Given the description of an element on the screen output the (x, y) to click on. 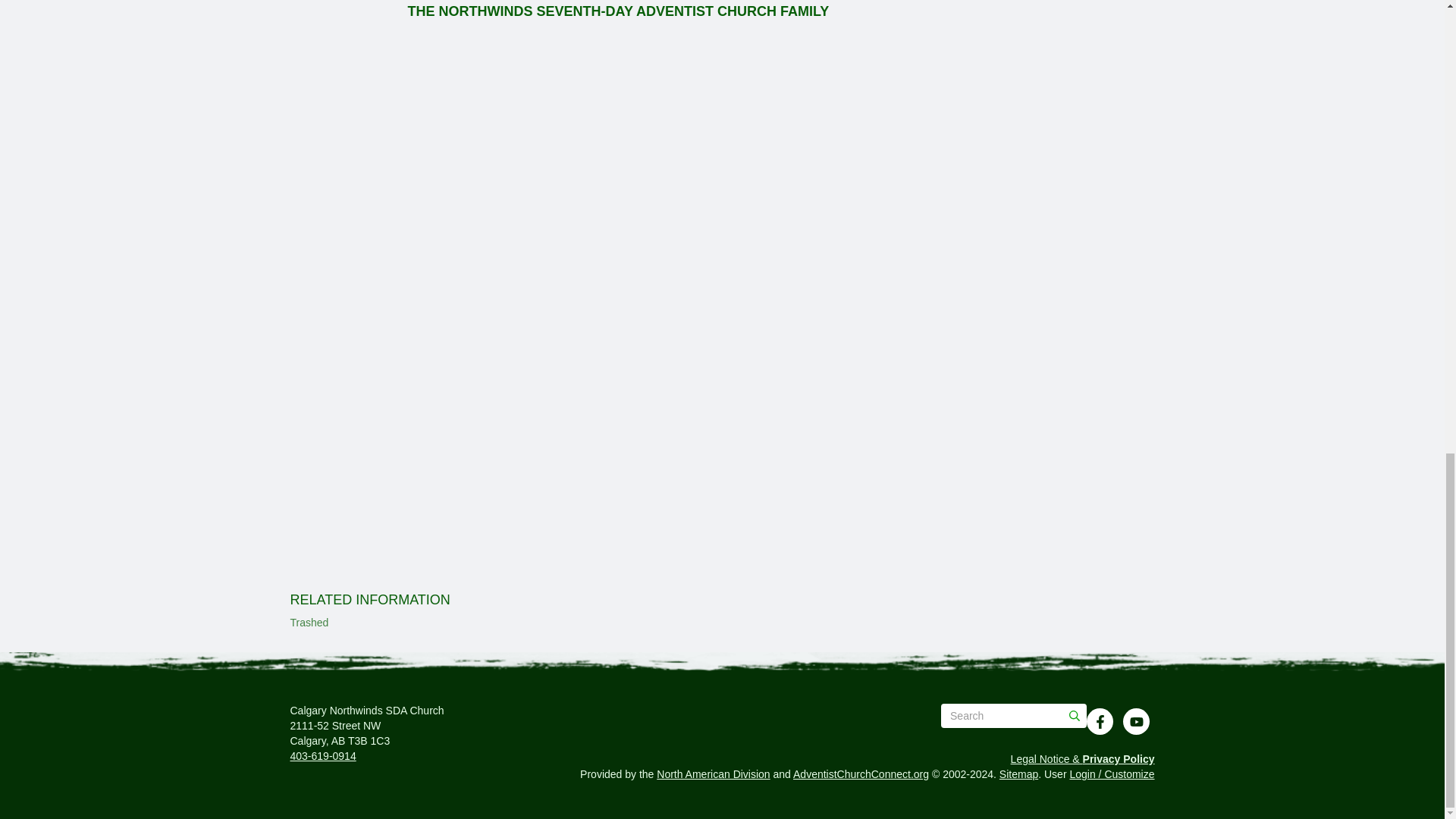
Sitemap (1018, 774)
North American Division (713, 774)
403-619-0914 (322, 756)
Trashed (309, 622)
AdventistChurchConnect.org (860, 774)
